Given the description of an element on the screen output the (x, y) to click on. 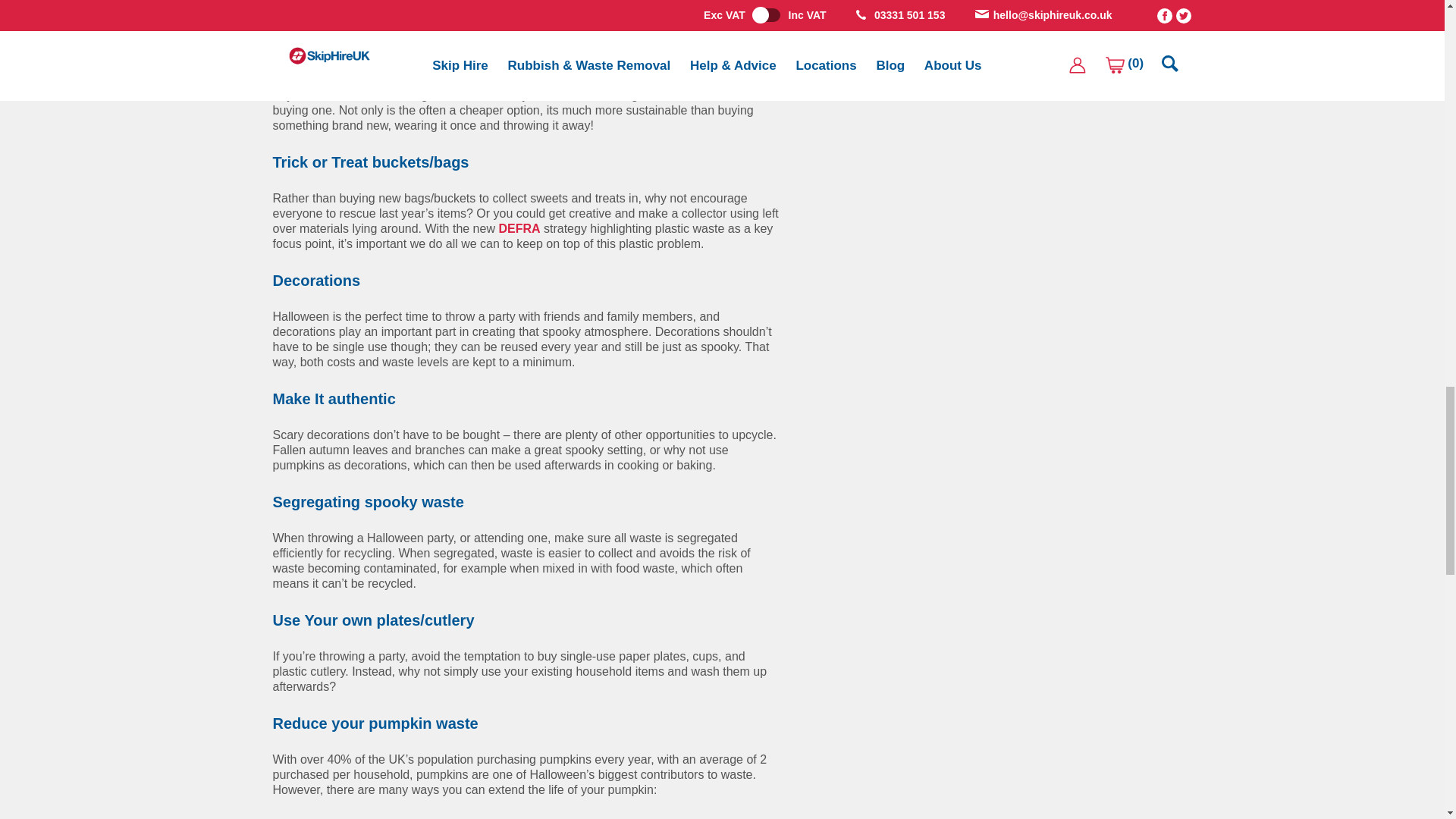
DEFRA (518, 228)
